Given the description of an element on the screen output the (x, y) to click on. 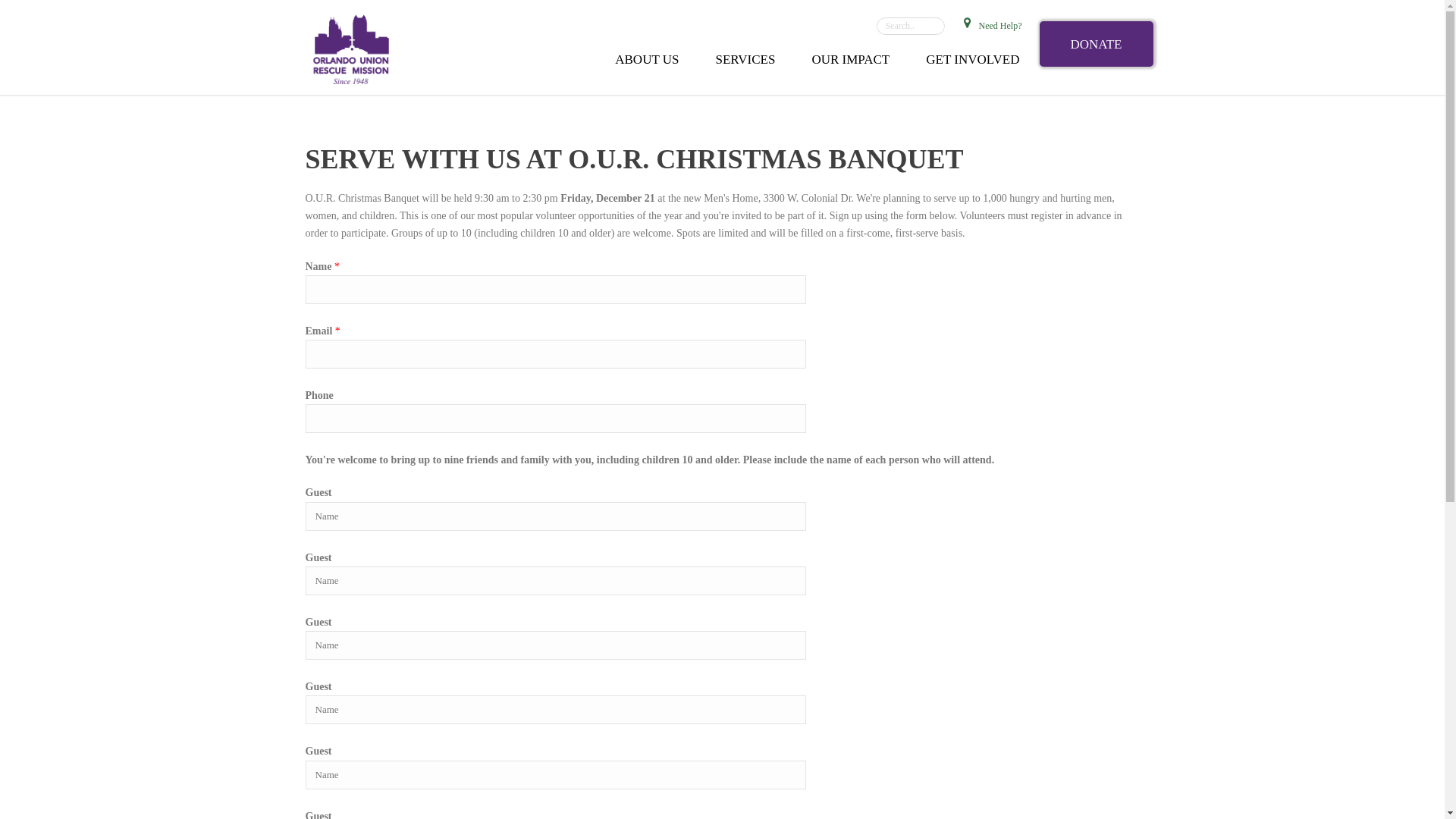
Need Help? (984, 22)
OUR IMPACT (849, 58)
SERVICES (745, 58)
SERVICES (745, 58)
DONATE (1096, 43)
DONATE (1096, 43)
GET INVOLVED (971, 58)
ABOUT US (646, 58)
OUR IMPACT (849, 58)
ABOUT US (646, 58)
GET INVOLVED (971, 58)
